Given the description of an element on the screen output the (x, y) to click on. 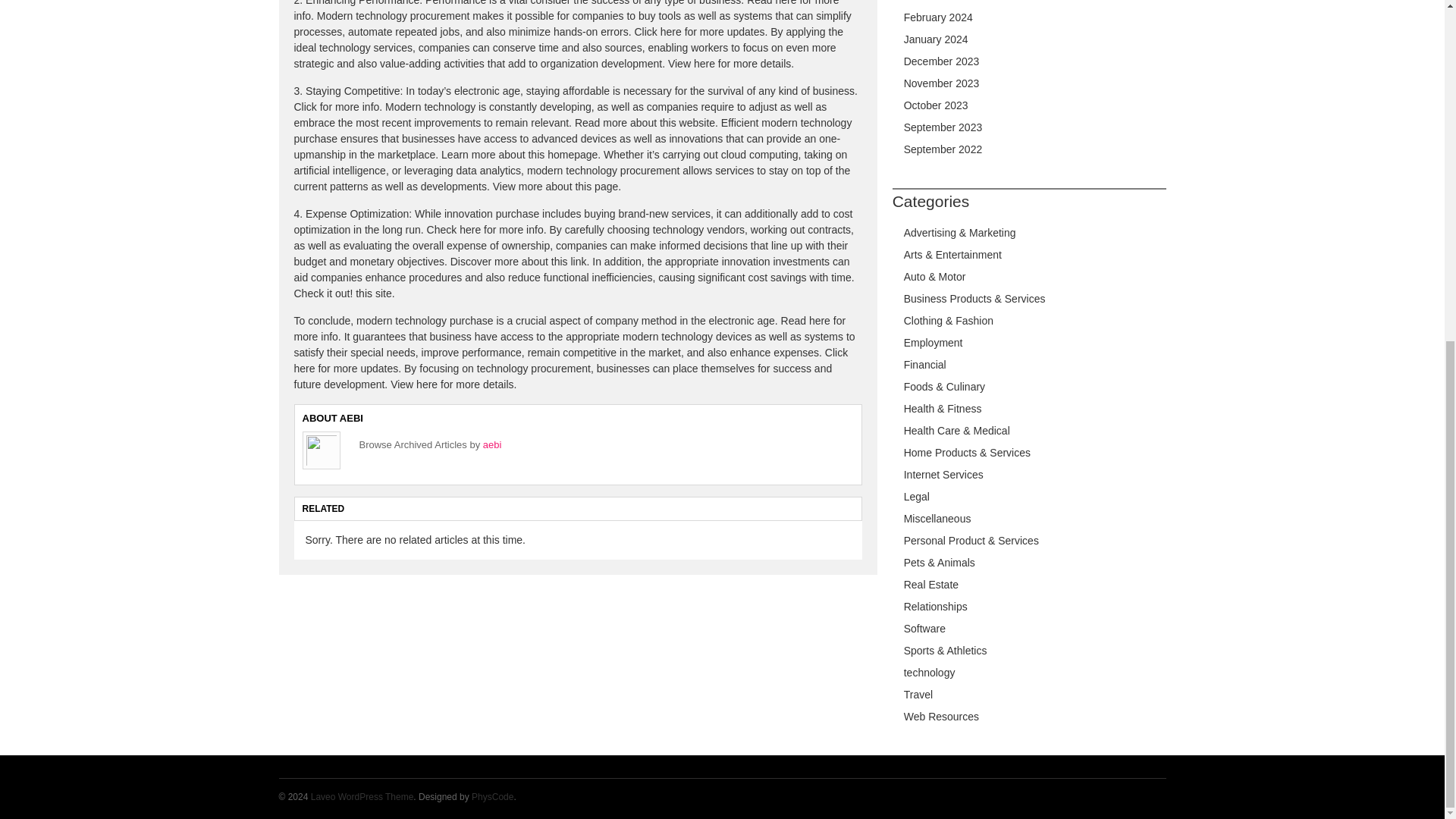
February 2024 (938, 17)
aebi (492, 444)
Employment (933, 342)
November 2023 (941, 82)
October 2023 (936, 105)
December 2023 (941, 61)
September 2023 (943, 127)
January 2024 (936, 39)
Internet Services (944, 474)
Financial (925, 364)
Learn more (468, 154)
March 2024 (931, 0)
Legal (917, 496)
September 2022 (943, 149)
